Given the description of an element on the screen output the (x, y) to click on. 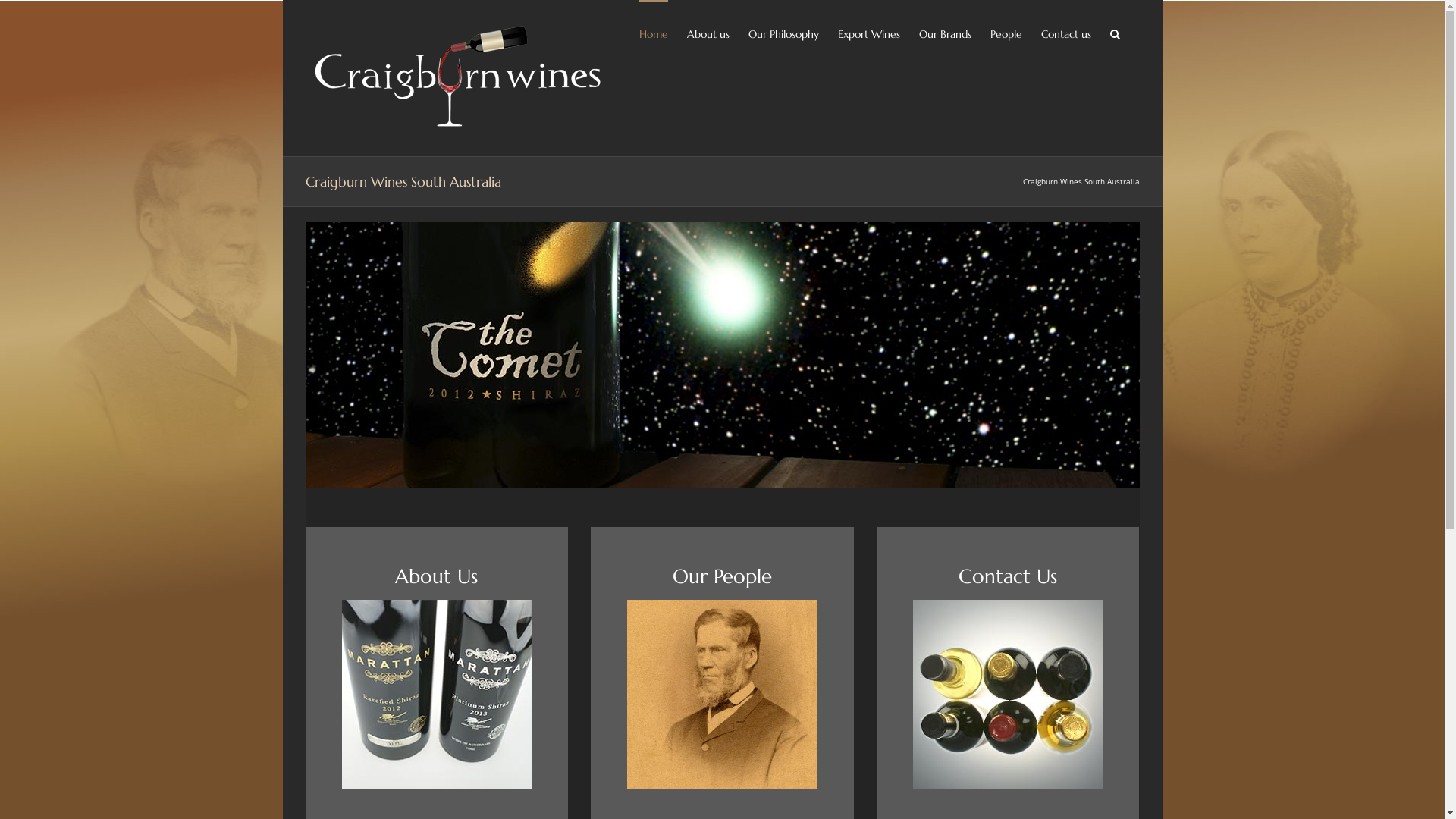
People Element type: text (1006, 32)
Our Brands Element type: text (945, 32)
Search Element type: hover (1115, 32)
About Us Element type: text (437, 576)
Our Philosophy Element type: text (782, 32)
Contact us Element type: text (1065, 32)
Home Element type: text (652, 32)
Our People Element type: text (722, 576)
the-comet1 Element type: hover (721, 354)
Contact Us Element type: text (1008, 576)
About us Element type: text (708, 32)
Export Wines Element type: text (868, 32)
